Given the description of an element on the screen output the (x, y) to click on. 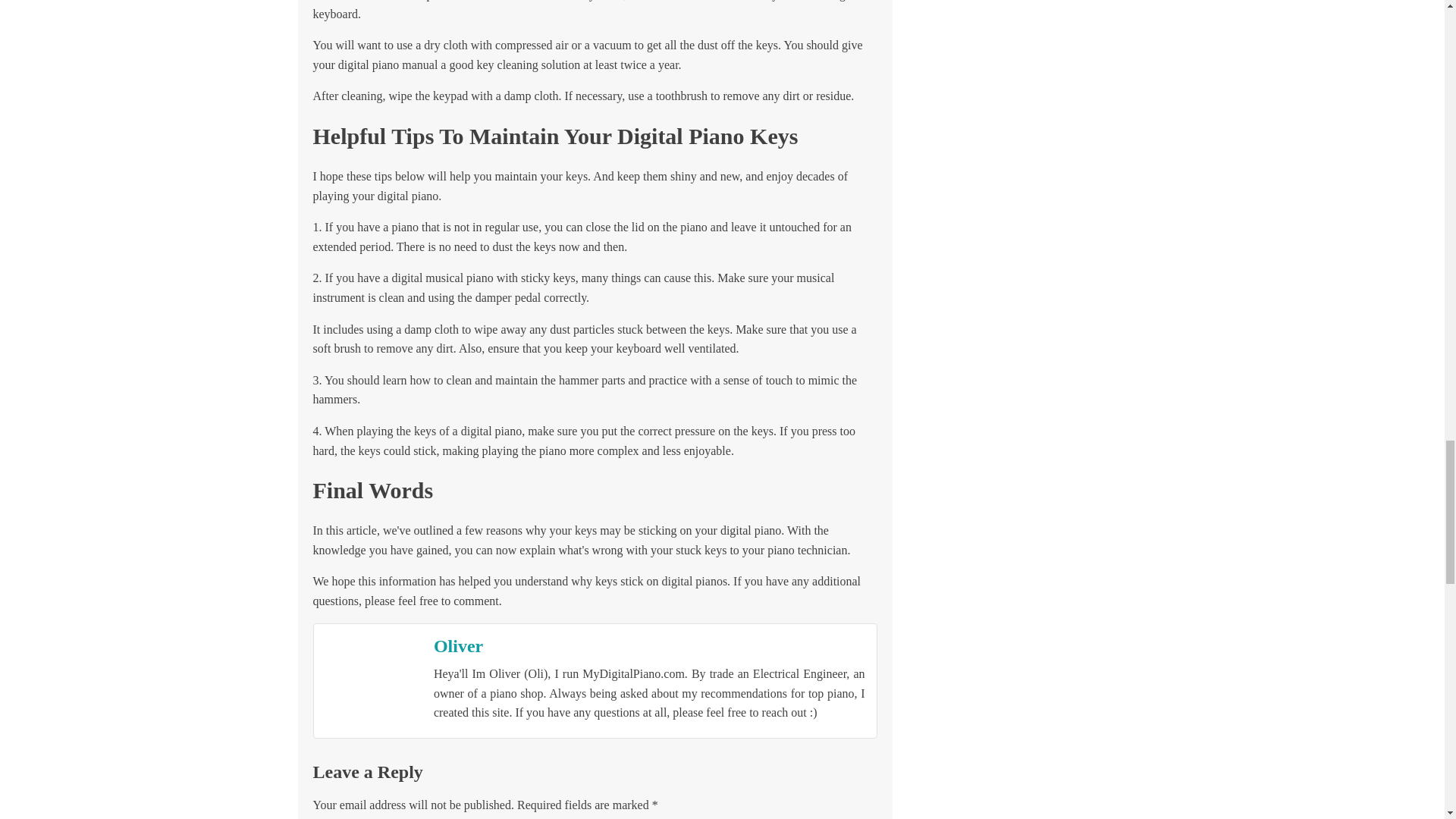
Oliver (458, 645)
